Given the description of an element on the screen output the (x, y) to click on. 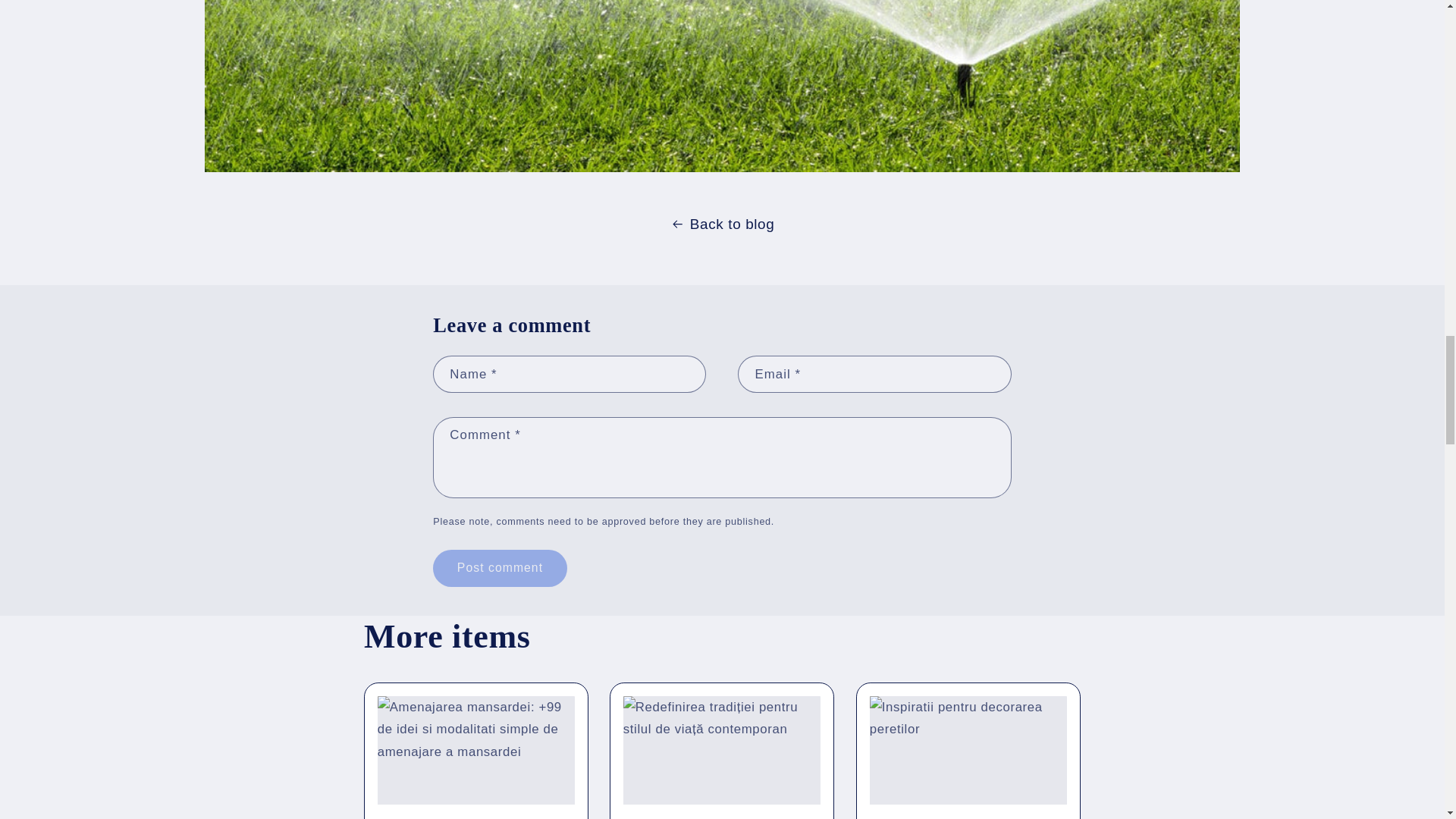
Post comment (499, 568)
